Given the description of an element on the screen output the (x, y) to click on. 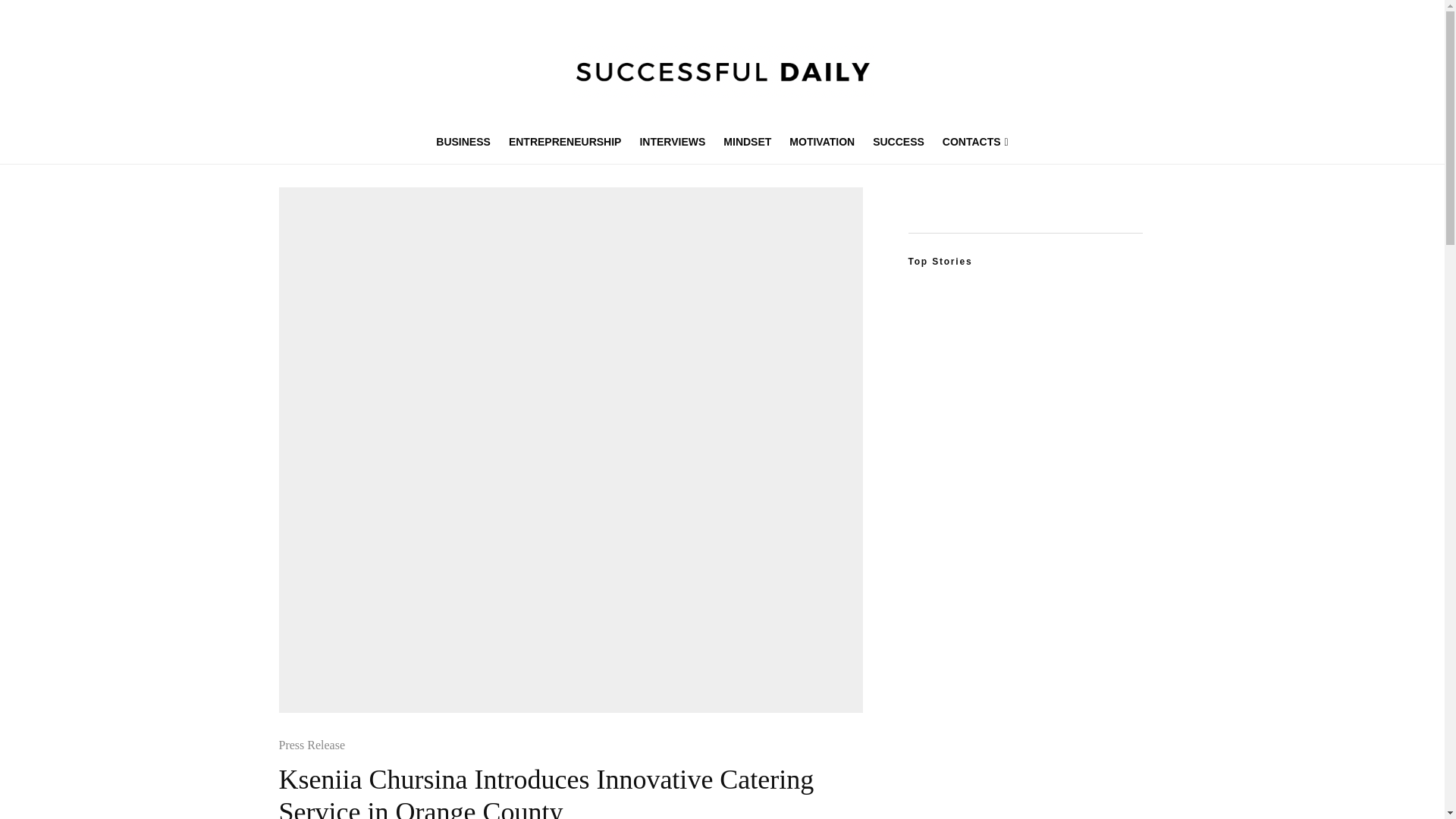
MOTIVATION (821, 141)
MINDSET (747, 141)
ENTREPRENEURSHIP (564, 141)
BUSINESS (462, 141)
INTERVIEWS (672, 141)
